Given the description of an element on the screen output the (x, y) to click on. 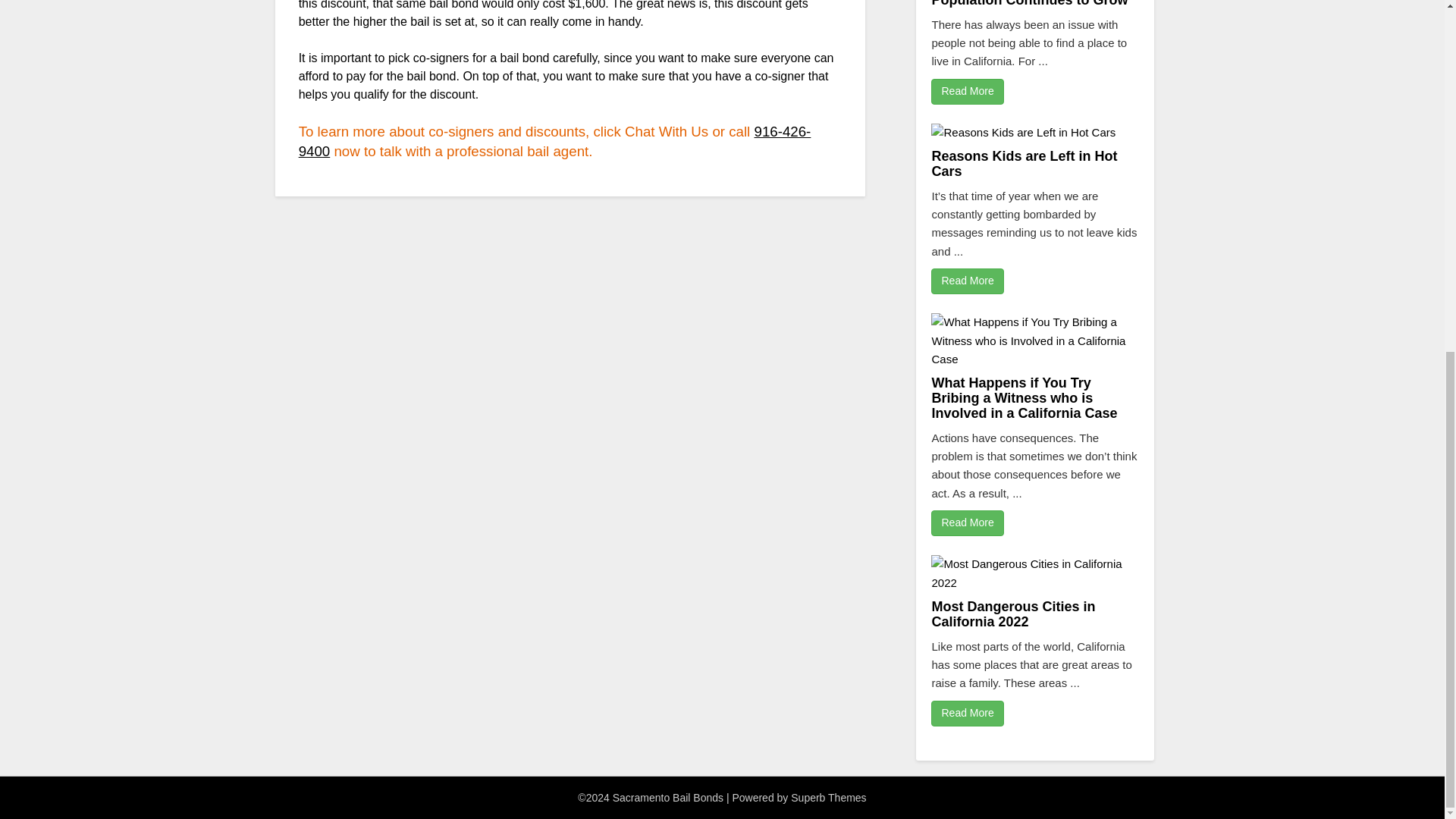
Read More (967, 281)
Read More (967, 713)
Bail Bond Store in Elk Grove (554, 140)
Read More (967, 523)
916-426-9400 (554, 140)
Reasons Kids are Left in Hot Cars (1023, 163)
Most Dangerous Cities in California 2022 (1012, 613)
Read More (967, 91)
Superb Themes (828, 797)
